Given the description of an element on the screen output the (x, y) to click on. 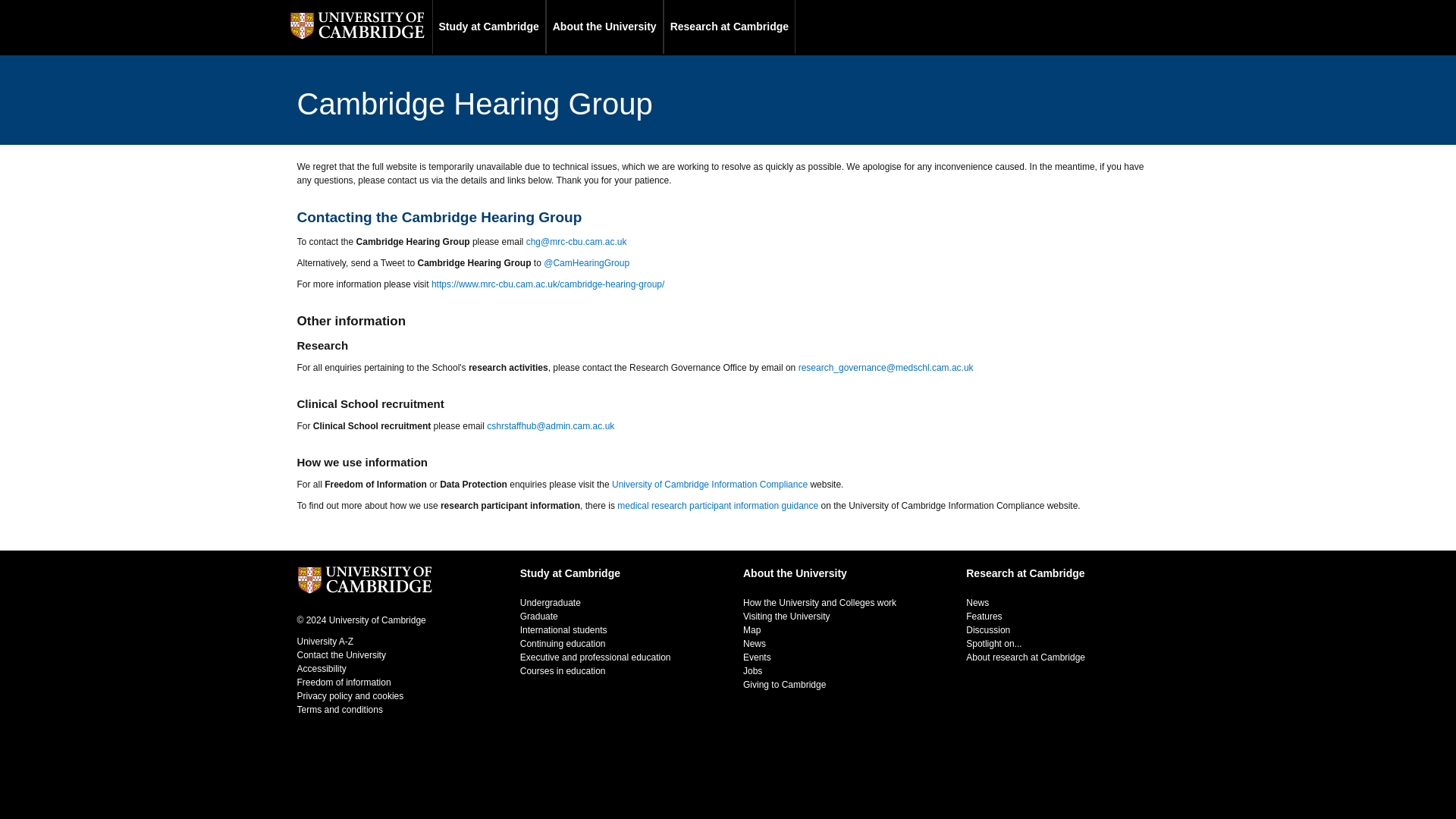
International students (563, 629)
Map (751, 629)
Research at Cambridge (728, 27)
Visiting the University (785, 615)
About the University (794, 577)
Executive and professional education (595, 656)
Spotlight on... (994, 643)
Accessibility (321, 668)
Research at Cambridge (1025, 577)
Courses in education (562, 670)
Undergraduate (549, 602)
Events (756, 656)
Study at Cambridge (489, 27)
About research at Cambridge (1025, 656)
About the University (604, 27)
